Given the description of an element on the screen output the (x, y) to click on. 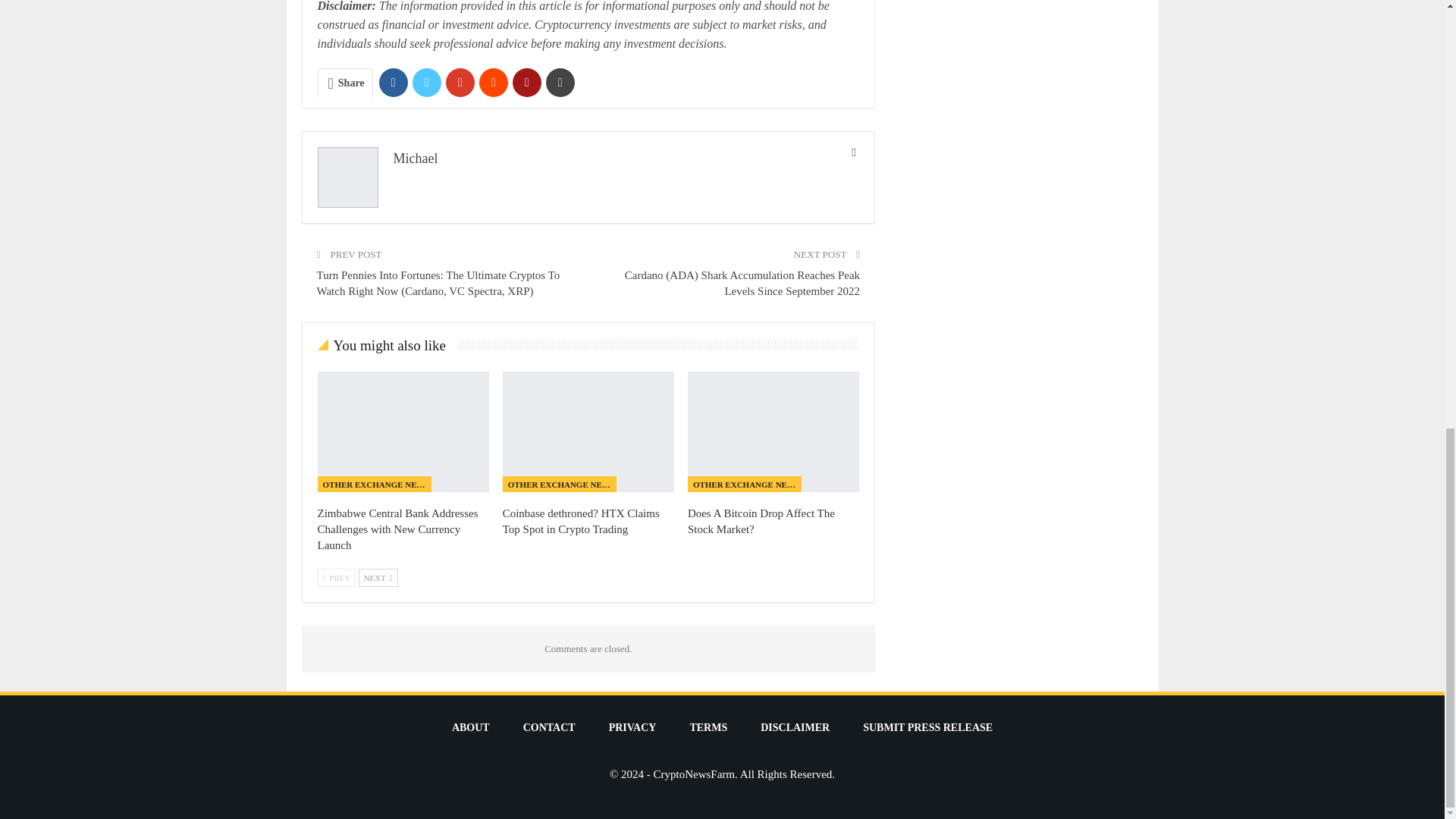
Does A Bitcoin Drop Affect The Stock Market? (760, 520)
Coinbase dethroned? HTX Claims Top Spot in Crypto Trading (580, 520)
Does A Bitcoin Drop Affect The Stock Market? (773, 431)
Coinbase dethroned? HTX Claims Top Spot in Crypto Trading (588, 431)
